Given the description of an element on the screen output the (x, y) to click on. 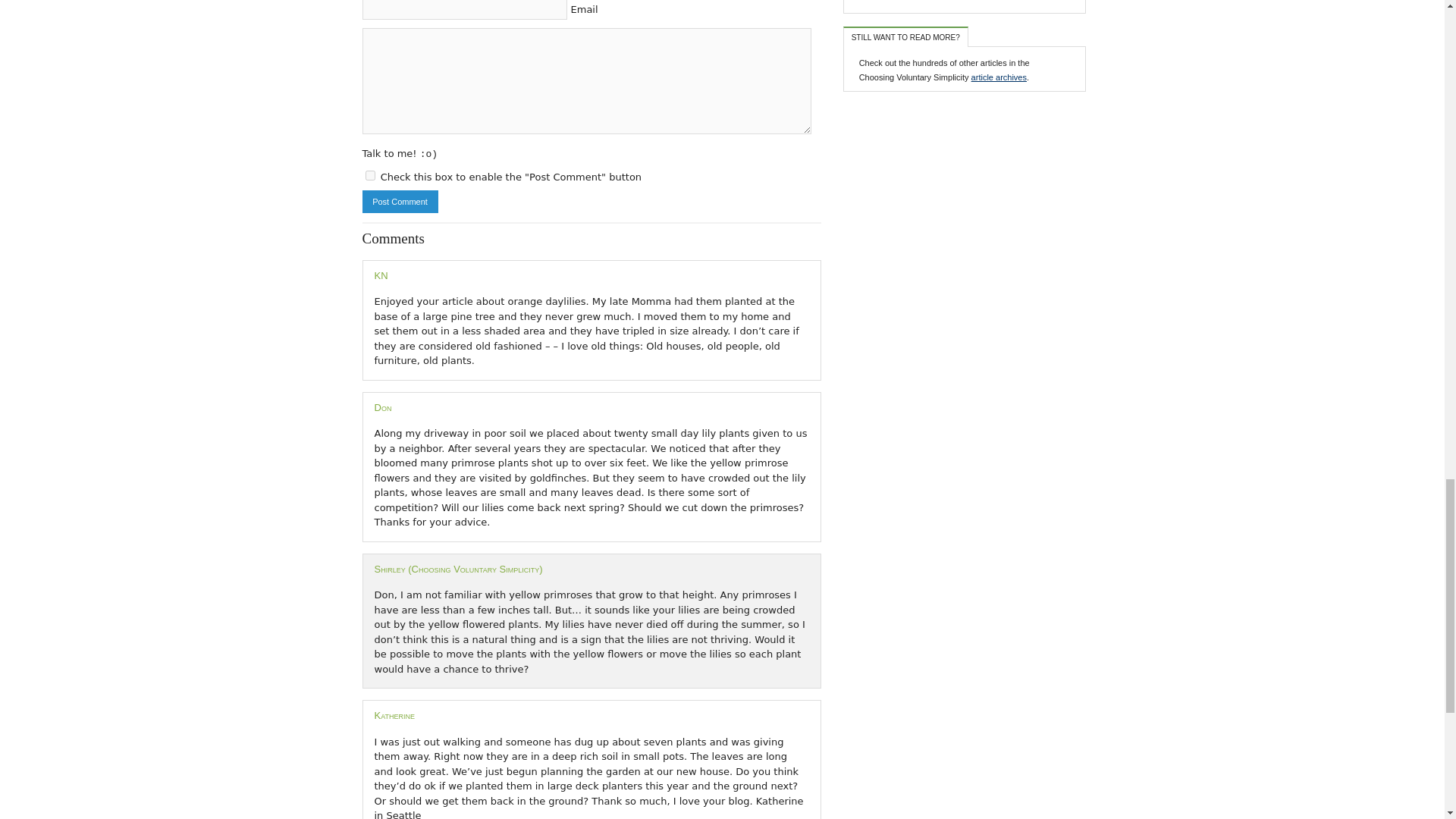
Post Comment (400, 201)
Post Comment (400, 201)
on (370, 175)
article archives (998, 76)
